Given the description of an element on the screen output the (x, y) to click on. 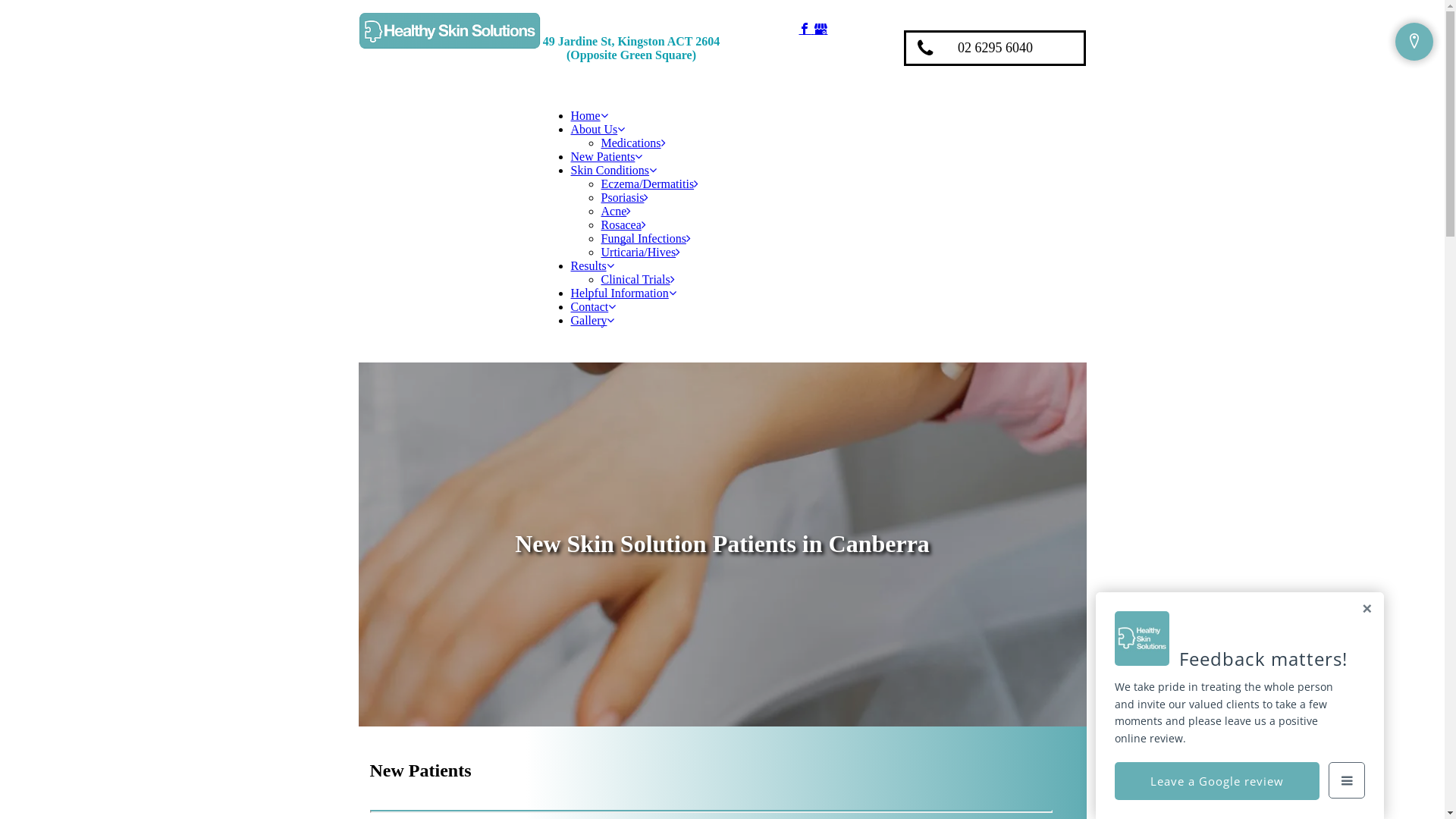
Clinical Trials Element type: text (637, 279)
Fungal Infections Element type: text (645, 238)
Contact Element type: text (592, 306)
About Us Element type: text (597, 128)
Eczema/Dermatitis Element type: text (649, 183)
New Patients Element type: text (606, 156)
Medications Element type: text (632, 142)
Home Element type: text (588, 115)
49 Jardine St, Kingston ACT 2604 (Opposite Green Square) Element type: text (631, 47)
Helpful Information Element type: text (622, 292)
Urticaria/Hives Element type: text (640, 251)
Acne Element type: text (615, 210)
Rosacea Element type: text (622, 224)
Skin Conditions Element type: text (613, 169)
Gallery Element type: text (592, 319)
Psoriasis Element type: text (624, 197)
Leave a Google review Element type: text (1216, 781)
Results Element type: text (591, 265)
Healthy Skin Solutions Element type: hover (448, 30)
02 6295 6040 Element type: text (994, 47)
